Given the description of an element on the screen output the (x, y) to click on. 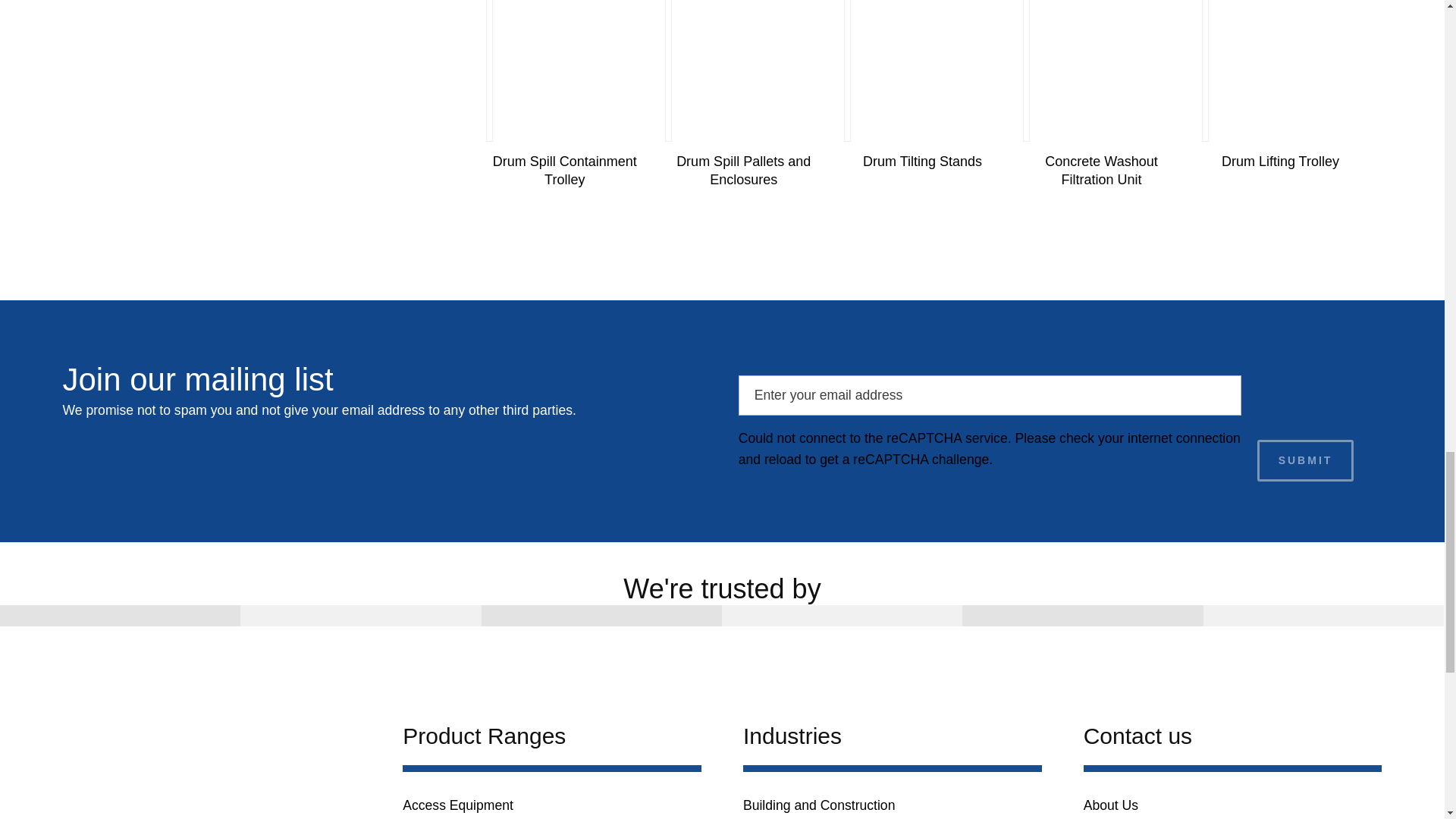
Submit (1305, 460)
Enter your email address (989, 395)
